Given the description of an element on the screen output the (x, y) to click on. 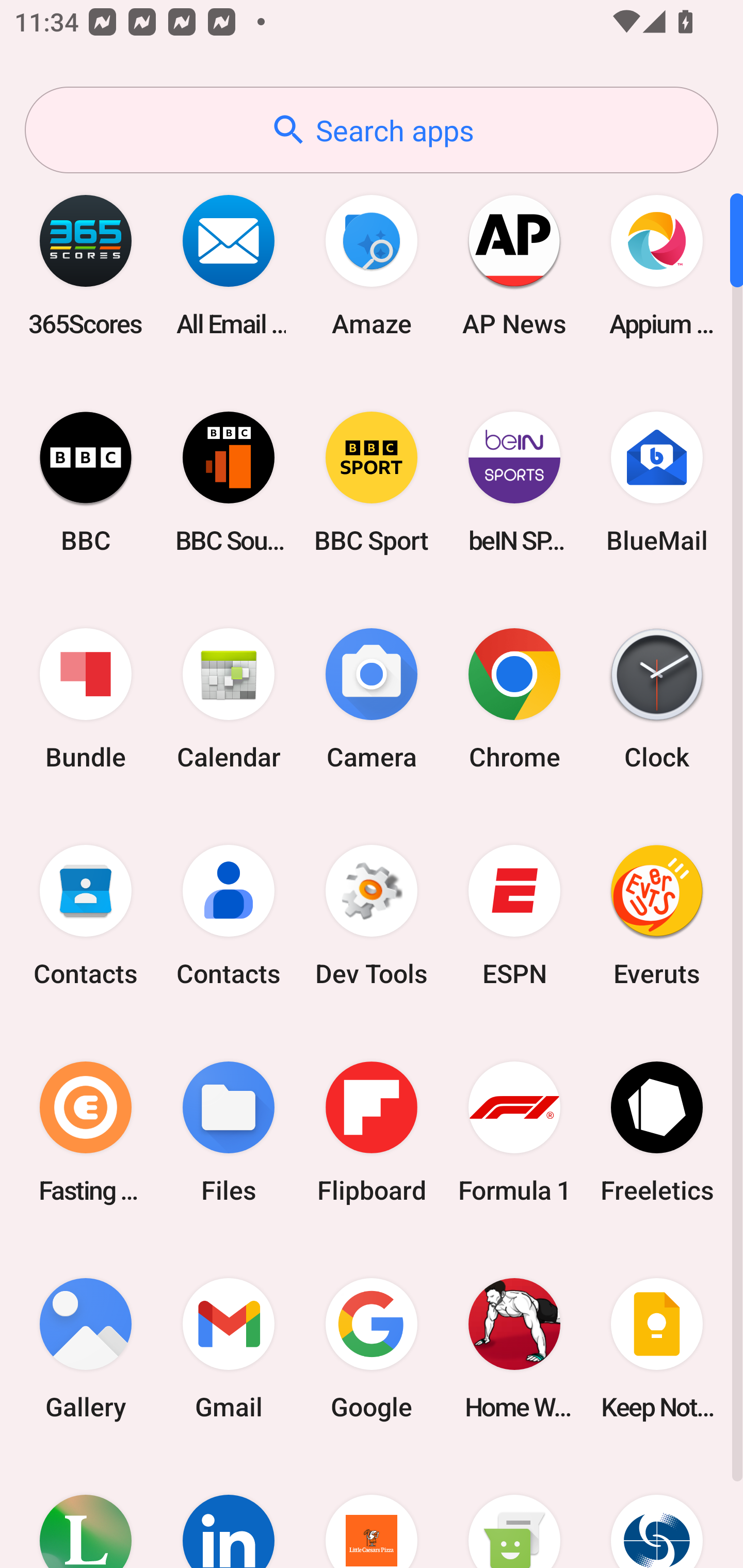
  Search apps (371, 130)
365Scores (85, 264)
All Email Connect (228, 264)
Amaze (371, 264)
AP News (514, 264)
Appium Settings (656, 264)
BBC (85, 482)
BBC Sounds (228, 482)
BBC Sport (371, 482)
beIN SPORTS (514, 482)
BlueMail (656, 482)
Bundle (85, 699)
Calendar (228, 699)
Camera (371, 699)
Chrome (514, 699)
Clock (656, 699)
Contacts (85, 915)
Contacts (228, 915)
Dev Tools (371, 915)
ESPN (514, 915)
Everuts (656, 915)
Fasting Coach (85, 1131)
Files (228, 1131)
Flipboard (371, 1131)
Formula 1 (514, 1131)
Freeletics (656, 1131)
Gallery (85, 1348)
Gmail (228, 1348)
Google (371, 1348)
Home Workout (514, 1348)
Keep Notes (656, 1348)
Lifesum (85, 1512)
LinkedIn (228, 1512)
Little Caesars Pizza (371, 1512)
Messaging (514, 1512)
MyObservatory (656, 1512)
